Given the description of an element on the screen output the (x, y) to click on. 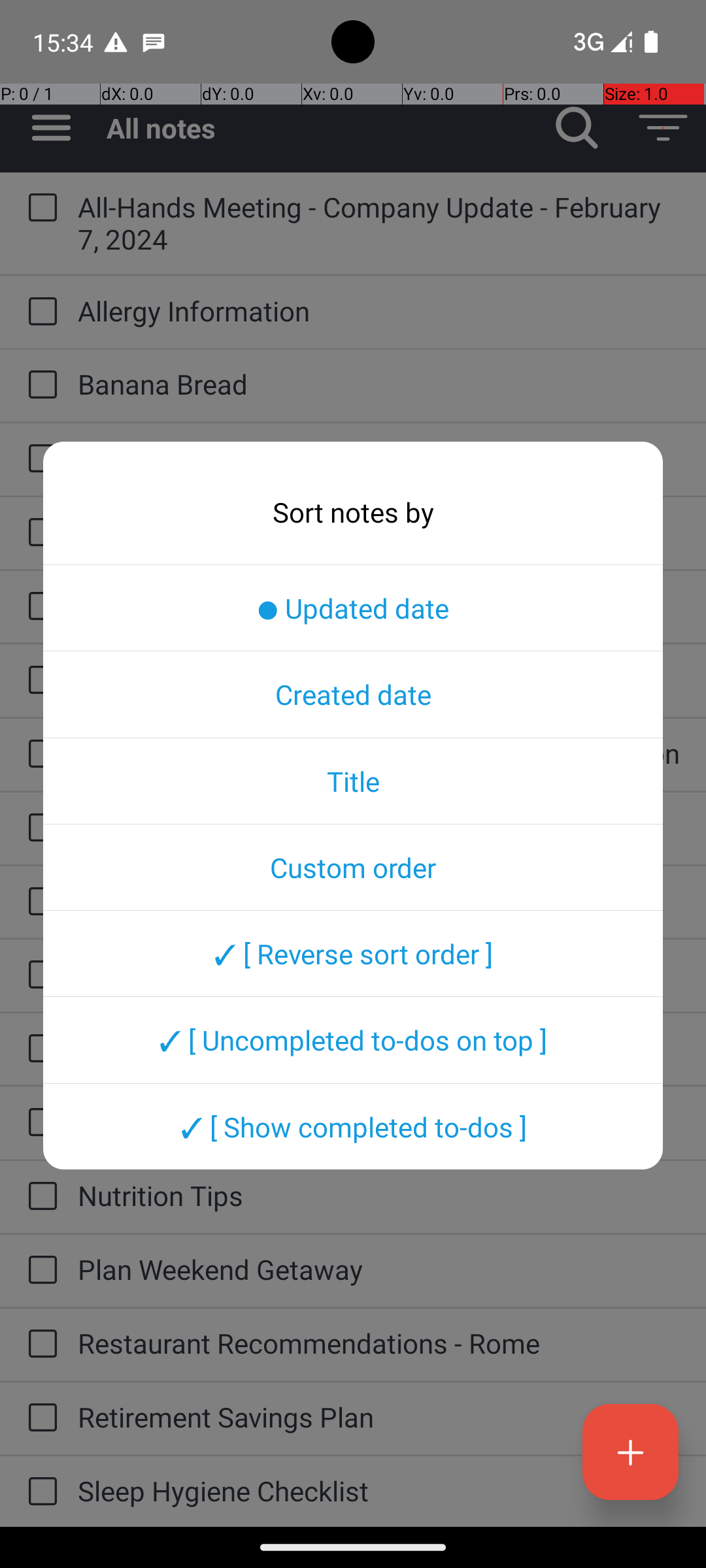
Sort notes by Element type: android.widget.TextView (353, 511)
Sidebar Element type: android.widget.Button (44, 127)
All notes Element type: android.widget.TextView (320, 127)
Add new, collapsed Element type: android.widget.Button (630, 1452)
⬤ Updated date Element type: android.widget.TextView (352, 607)
Created date Element type: android.widget.TextView (352, 693)
Title Element type: android.widget.TextView (352, 780)
Custom order Element type: android.widget.TextView (352, 866)
✓ [ Reverse sort order ] Element type: android.widget.TextView (352, 953)
✓ [ Uncompleted to-dos on top ] Element type: android.widget.TextView (352, 1039)
✓ [ Show completed to-dos ] Element type: android.widget.TextView (352, 1126)
 Element type: android.widget.TextView (51, 127)
 Element type: android.widget.TextView (576, 127)
 Element type: android.widget.TextView (663, 127)
 Element type: android.widget.TextView (630, 1451)
to-do: All-Hands Meeting - Company Update - February 7, 2024 Element type: android.widget.CheckBox (38, 208)
All-Hands Meeting - Company Update - February 7, 2024 Element type: android.widget.TextView (378, 222)
to-do: Allergy Information Element type: android.widget.CheckBox (38, 312)
Allergy Information Element type: android.widget.TextView (378, 310)
to-do: Banana Bread Element type: android.widget.CheckBox (38, 385)
Banana Bread Element type: android.widget.TextView (378, 383)
to-do: Code Snippets - Python Element type: android.widget.CheckBox (38, 459)
Code Snippets - Python Element type: android.widget.TextView (378, 457)
to-do: Doctor's Appointment Notes - May 3rd Element type: android.widget.CheckBox (38, 533)
Doctor's Appointment Notes - May 3rd Element type: android.widget.TextView (378, 531)
to-do: Essay Draft - The Role of Technology in Education Element type: android.widget.CheckBox (38, 754)
Essay Draft - The Role of Technology in Education Element type: android.widget.TextView (378, 752)
to-do: Fitness Class Schedule Element type: android.widget.CheckBox (38, 828)
Fitness Class Schedule Element type: android.widget.TextView (378, 826)
to-do: Fitness Tracker Data - April 2024 Element type: android.widget.CheckBox (38, 902)
Fitness Tracker Data - April 2024 Element type: android.widget.TextView (378, 900)
to-do: Food Delivery Service for Dietary Restrictions Element type: android.widget.CheckBox (38, 975)
Food Delivery Service for Dietary Restrictions Element type: android.widget.TextView (378, 973)
to-do: Health-Related Articles and Blogs Element type: android.widget.CheckBox (38, 1049)
Health-Related Articles and Blogs Element type: android.widget.TextView (378, 1047)
to-do: Meditation and Mindfulness Resources Element type: android.widget.CheckBox (38, 1123)
Meditation and Mindfulness Resources Element type: android.widget.TextView (378, 1121)
to-do: Nutrition Tips Element type: android.widget.CheckBox (38, 1196)
Nutrition Tips Element type: android.widget.TextView (378, 1194)
to-do: Plan Weekend Getaway Element type: android.widget.CheckBox (38, 1270)
Plan Weekend Getaway Element type: android.widget.TextView (378, 1268)
to-do: Restaurant Recommendations - Rome Element type: android.widget.CheckBox (38, 1344)
Restaurant Recommendations - Rome Element type: android.widget.TextView (378, 1342)
to-do: Retirement Savings Plan Element type: android.widget.CheckBox (38, 1418)
Retirement Savings Plan Element type: android.widget.TextView (378, 1416)
to-do: Sleep Hygiene Checklist Element type: android.widget.CheckBox (38, 1491)
Sleep Hygiene Checklist Element type: android.widget.TextView (378, 1490)
